Given the description of an element on the screen output the (x, y) to click on. 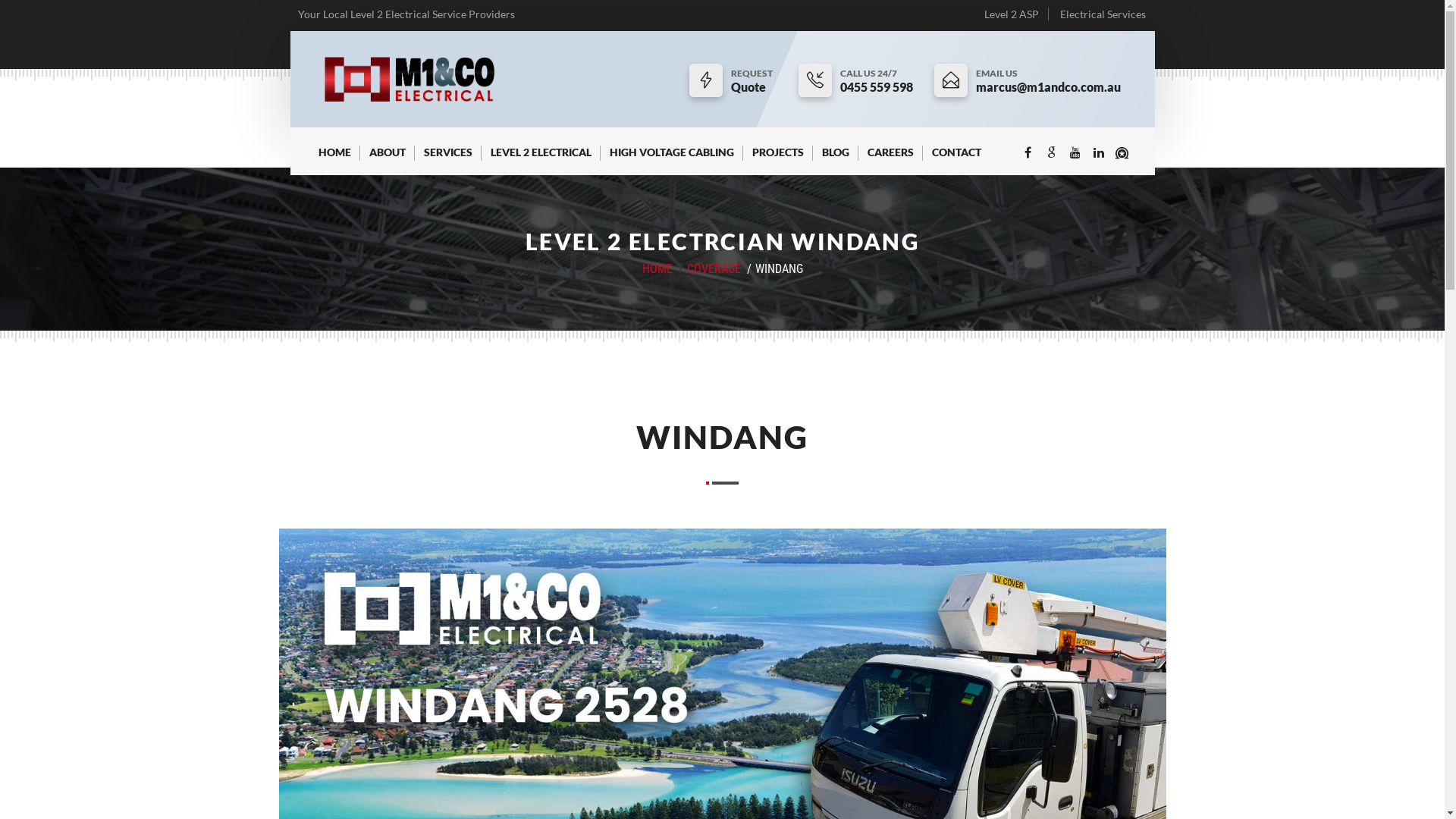
PROJECTS Element type: text (777, 158)
Findmag Element type: hover (1121, 153)
CAREERS Element type: text (890, 158)
CONTACT Element type: text (955, 158)
Level 2 ASP Element type: text (1011, 13)
SERVICES Element type: text (447, 158)
HOME Element type: text (334, 158)
LEVEL 2 ELECTRICAL Element type: text (539, 158)
0455 559 598 Element type: text (876, 86)
Level 2 Electrician Wollongong Element type: hover (409, 78)
ABOUT Element type: text (386, 158)
HIGH VOLTAGE CABLING Element type: text (671, 158)
Electrical Services Element type: text (1102, 13)
marcus@m1andco.com.au Element type: text (1047, 86)
Quote Element type: text (754, 86)
COVERAGE Element type: text (713, 268)
BLOG Element type: text (835, 158)
HOME Element type: text (656, 268)
